Given the description of an element on the screen output the (x, y) to click on. 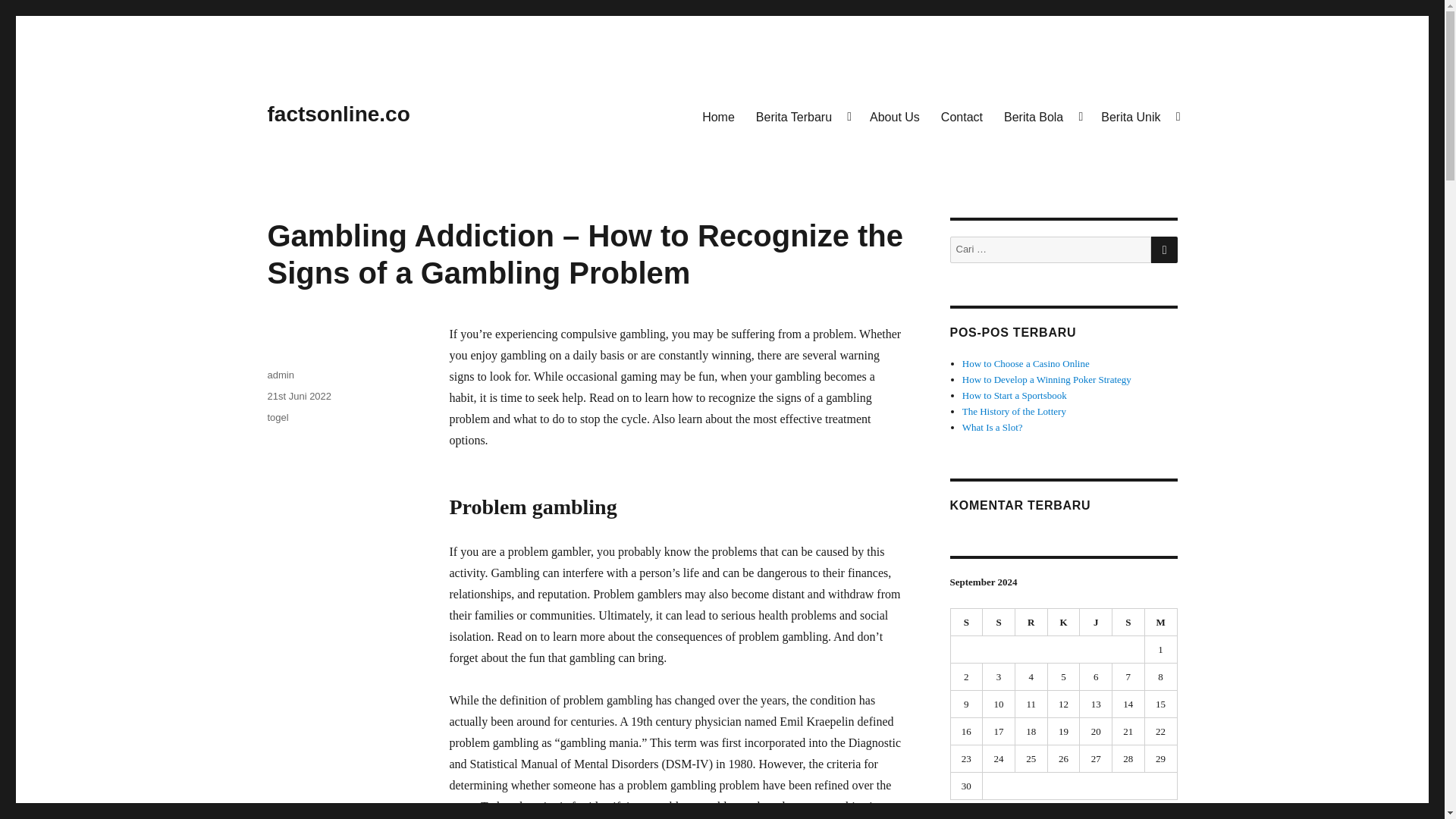
21st Juni 2022 (298, 396)
factsonline.co (337, 114)
Selasa (998, 621)
Berita Bola (1041, 116)
Home (718, 116)
Contact (961, 116)
Kamis (1064, 621)
Rabu (1031, 621)
Berita Unik (1139, 116)
admin (280, 374)
